Given the description of an element on the screen output the (x, y) to click on. 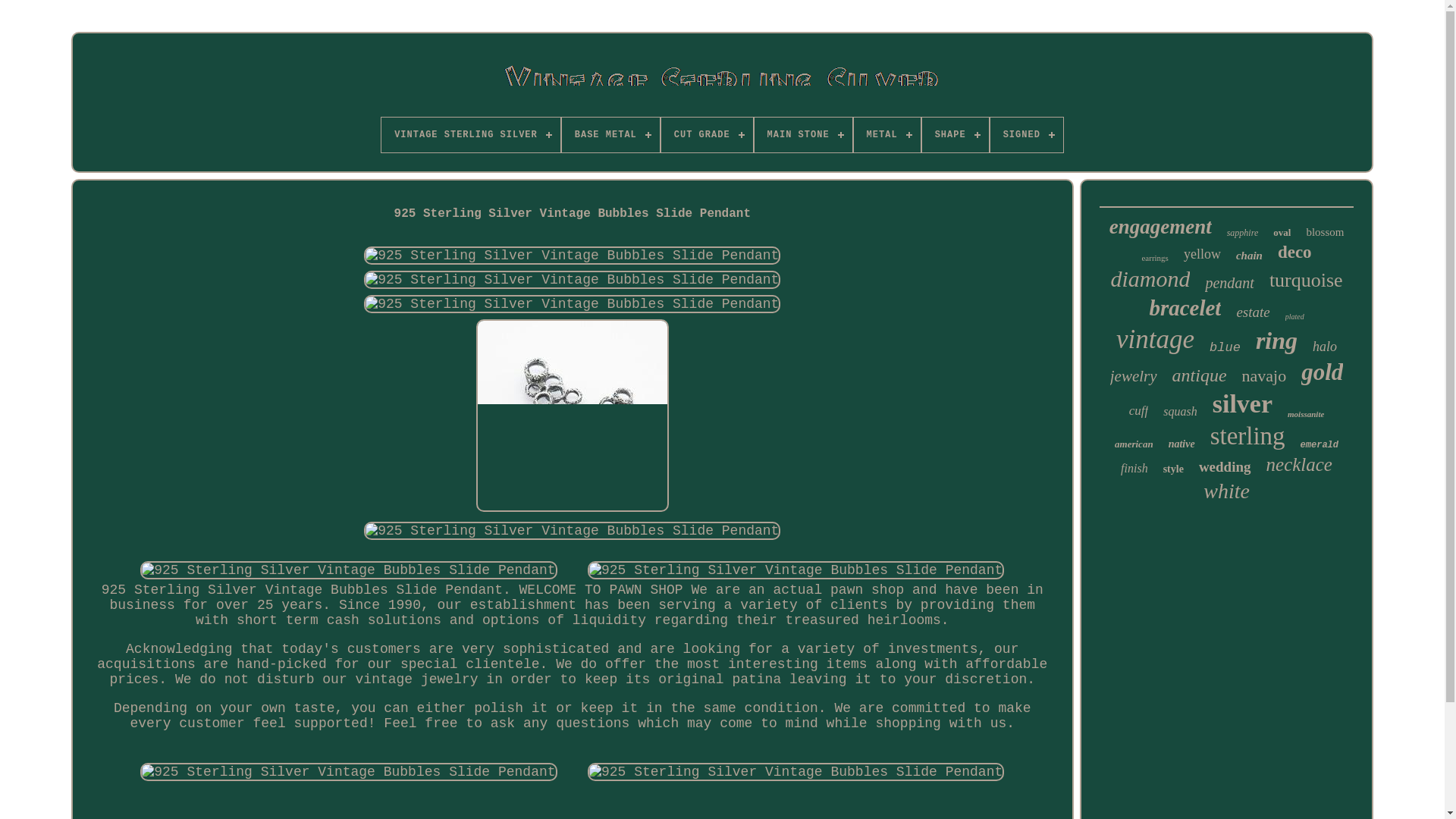
VINTAGE STERLING SILVER (470, 134)
MAIN STONE (802, 134)
925 Sterling Silver Vintage Bubbles Slide Pendant (796, 771)
925 Sterling Silver Vintage Bubbles Slide Pendant (572, 415)
925 Sterling Silver Vintage Bubbles Slide Pendant (796, 570)
925 Sterling Silver Vintage Bubbles Slide Pendant (572, 255)
925 Sterling Silver Vintage Bubbles Slide Pendant (572, 530)
925 Sterling Silver Vintage Bubbles Slide Pendant (572, 280)
CUT GRADE (706, 134)
925 Sterling Silver Vintage Bubbles Slide Pendant (347, 771)
925 Sterling Silver Vintage Bubbles Slide Pendant (572, 303)
925 Sterling Silver Vintage Bubbles Slide Pendant (347, 570)
BASE METAL (610, 134)
